Given the description of an element on the screen output the (x, y) to click on. 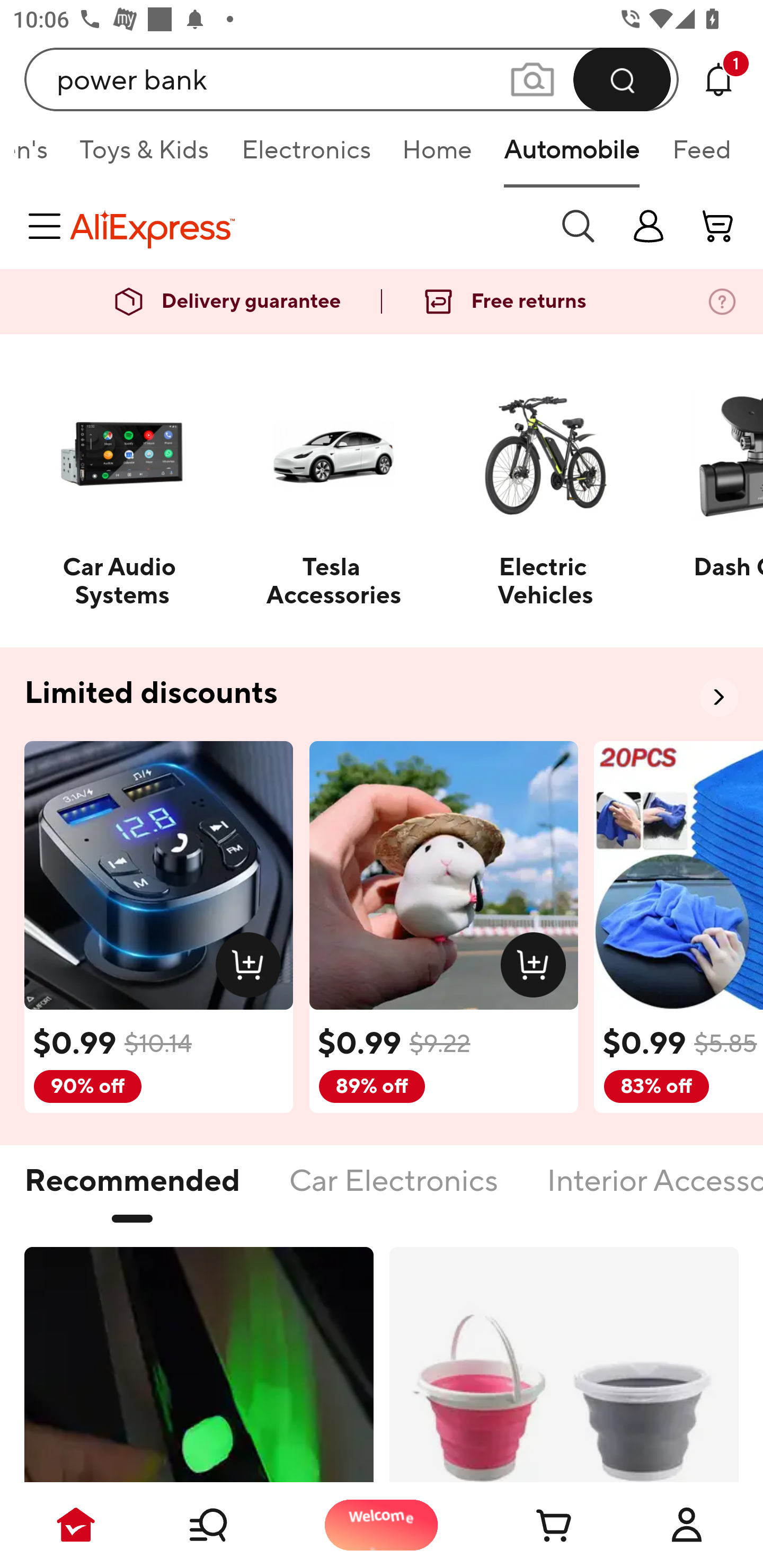
power bank (351, 79)
Toys & Kids (144, 155)
Electronics (305, 155)
Home (437, 155)
Feed (701, 155)
aliexpress (305, 225)
category (47, 225)
shop (648, 225)
account (718, 225)
Limited discounts  Limited discounts (381, 694)
128x128.png_ (252, 967)
128x128.png_ (536, 967)
Recommended (132, 1191)
Car Electronics (393, 1191)
Interior Accessories (655, 1191)
Shop (228, 1524)
Cart (533, 1524)
Account (686, 1524)
